Given the description of an element on the screen output the (x, y) to click on. 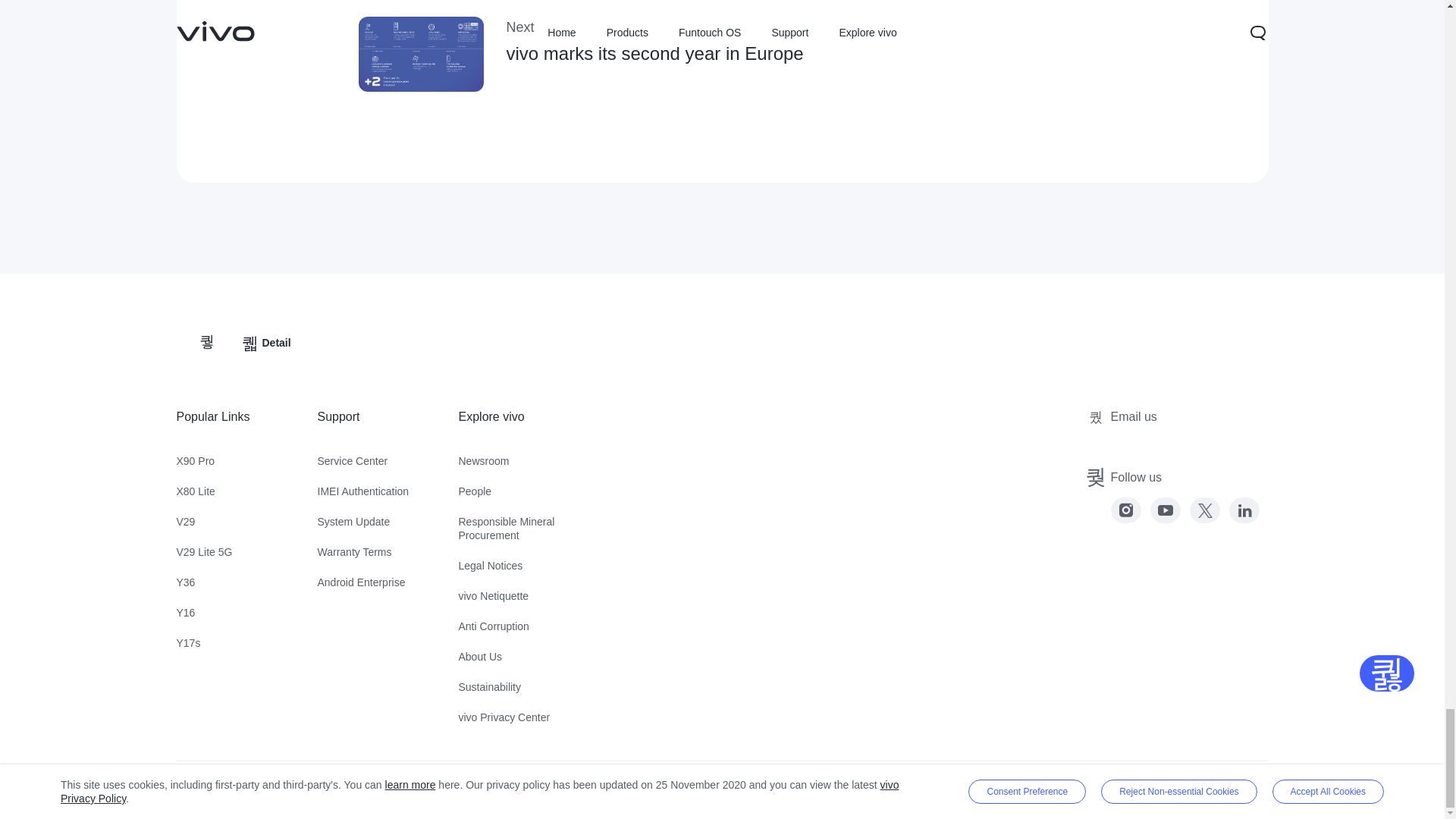
linkedin (1243, 510)
youtube (1164, 510)
twitter (1204, 510)
instagram (1124, 510)
